Given the description of an element on the screen output the (x, y) to click on. 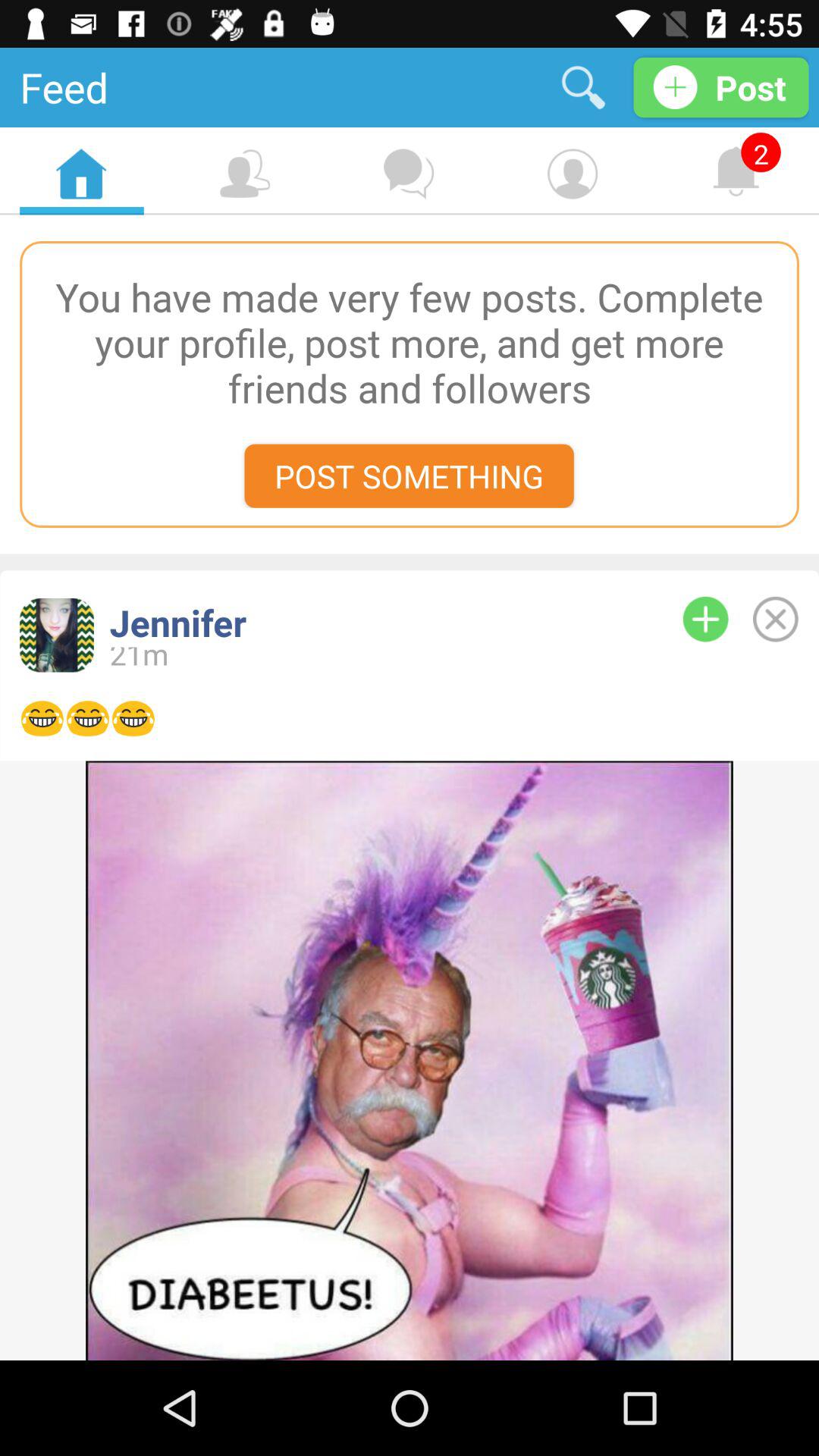
press item next to feed icon (583, 87)
